Given the description of an element on the screen output the (x, y) to click on. 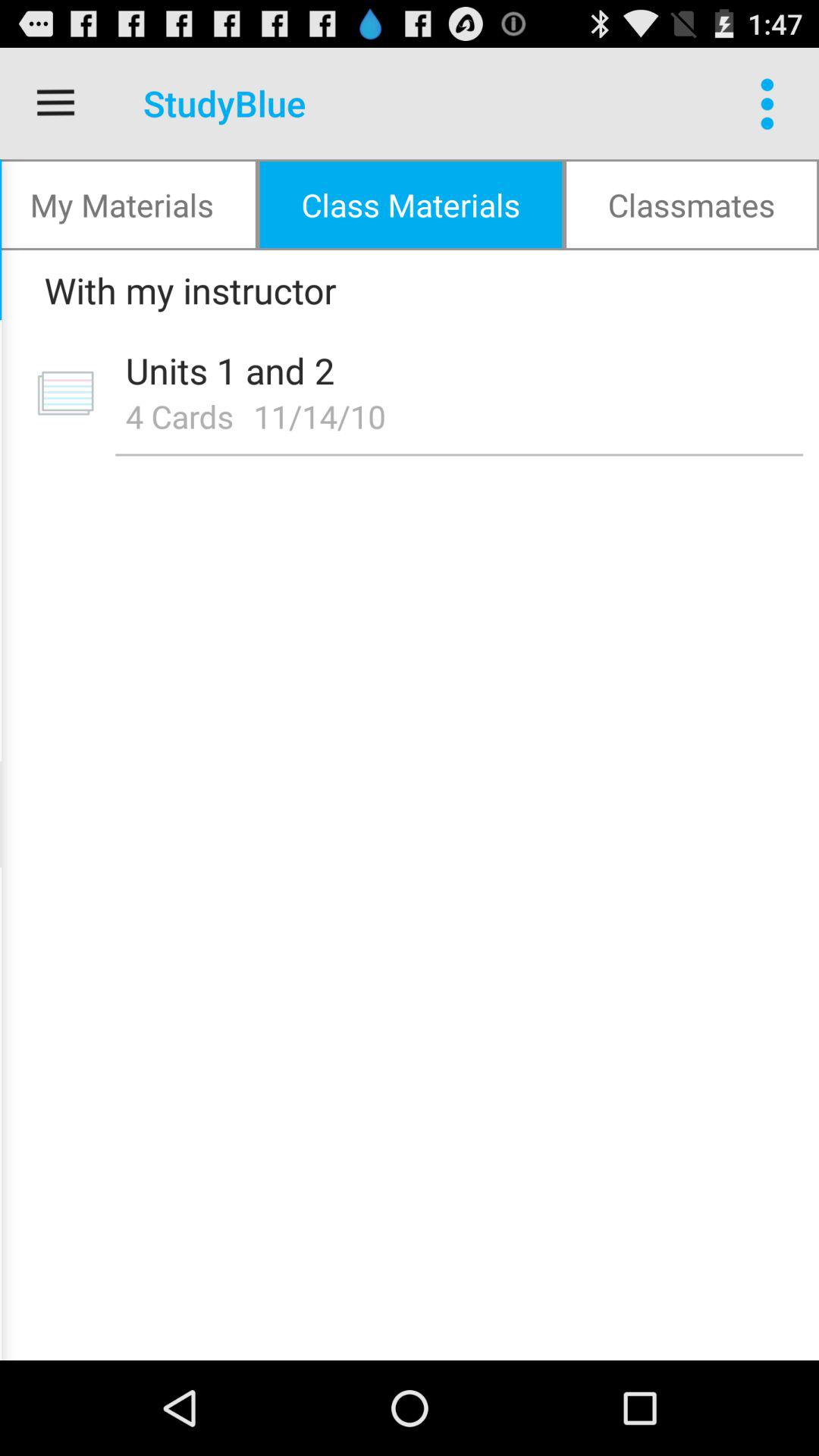
flip until my materials item (128, 204)
